Given the description of an element on the screen output the (x, y) to click on. 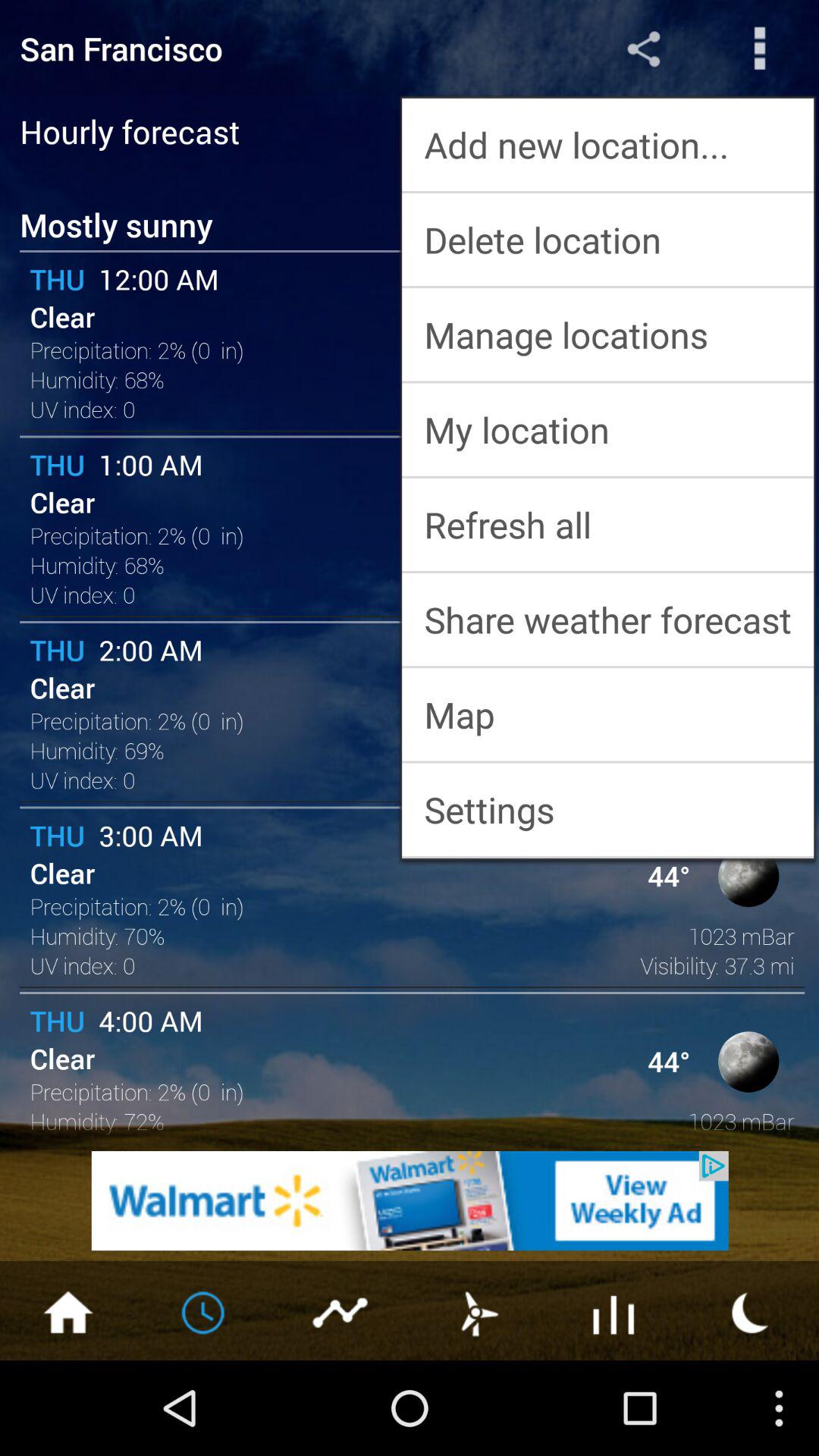
turn on the delete location (607, 239)
